Given the description of an element on the screen output the (x, y) to click on. 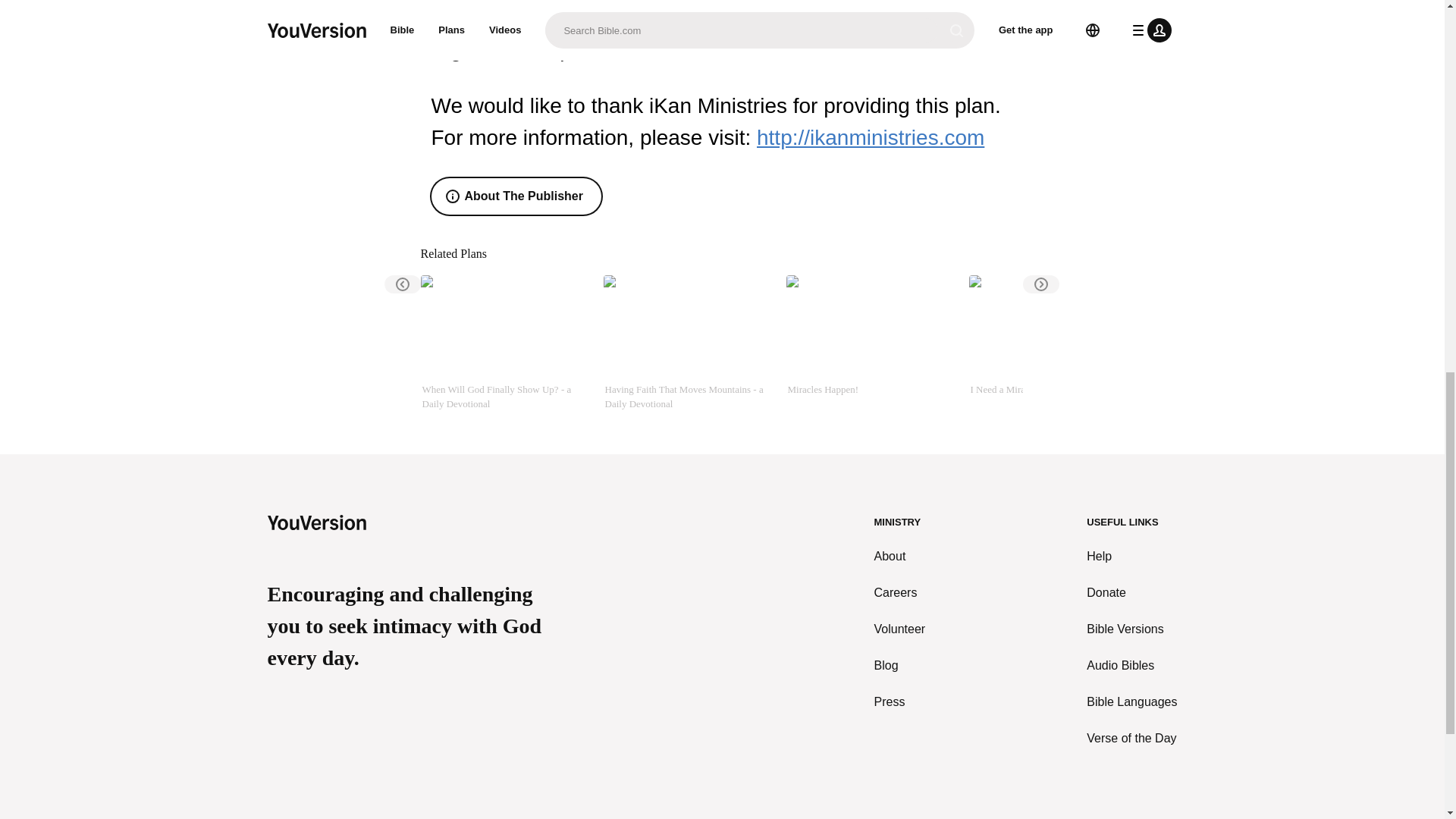
Donate (1131, 592)
When Will God Finally Show Up? - a Daily Devotional (505, 343)
Volunteer (900, 628)
Help (1131, 556)
Bible Languages (1131, 701)
Having Faith That Moves Mountains - a Daily Devotional (689, 343)
Miracles Happen! (871, 343)
Bible Versions (1131, 628)
Verse of the Day (1131, 738)
Blog (900, 665)
Careers (900, 592)
About (900, 556)
I Need a Miracle (1054, 343)
About The Publisher (514, 196)
Press (900, 701)
